Given the description of an element on the screen output the (x, y) to click on. 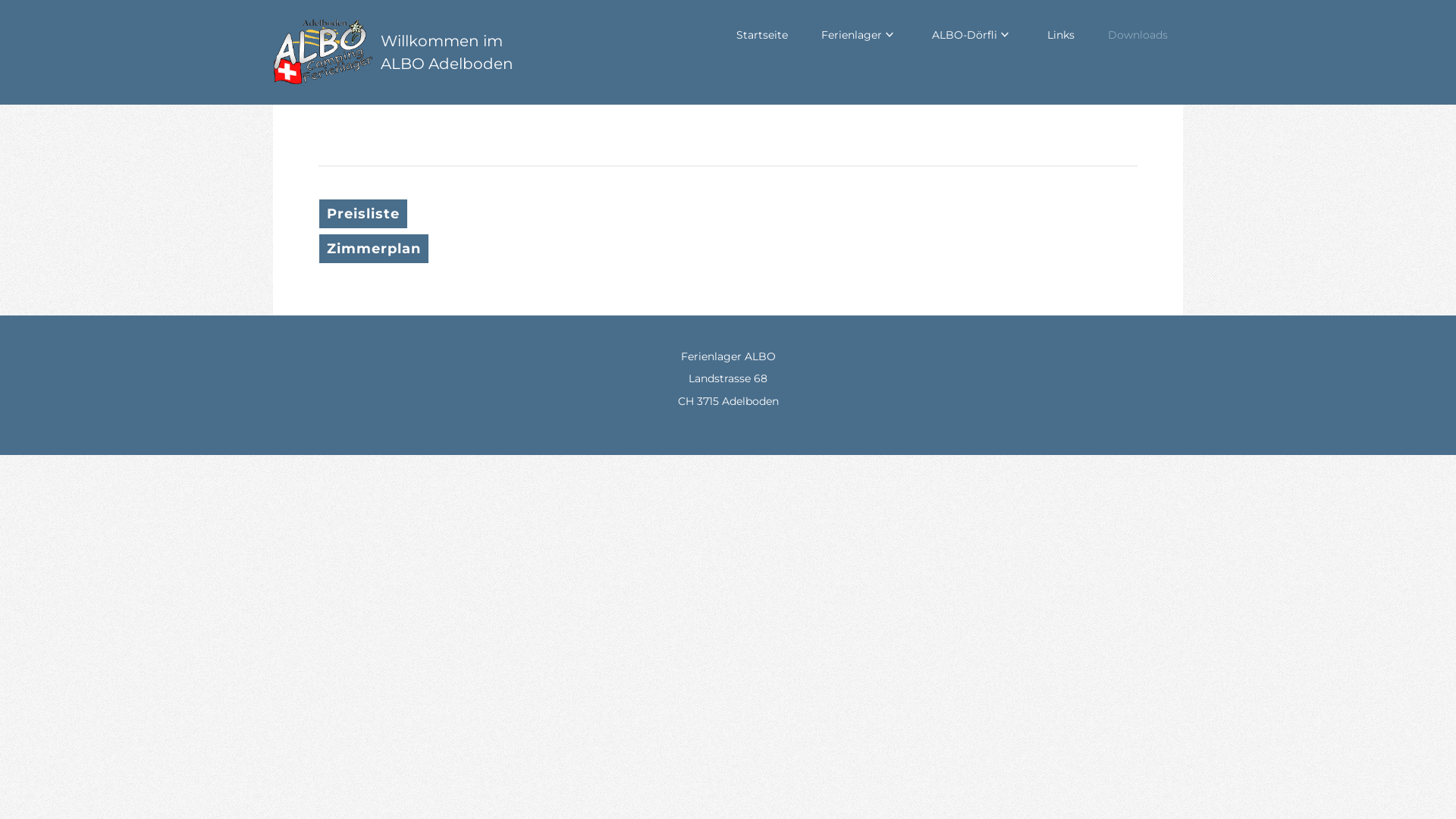
Links Element type: text (1060, 34)
Startseite Element type: text (762, 34)
Preisliste Element type: text (362, 213)
Downloads Element type: text (1137, 34)
Zimmerplan Element type: text (373, 248)
Willkommen im ALBO Adelboden Element type: text (446, 51)
